Given the description of an element on the screen output the (x, y) to click on. 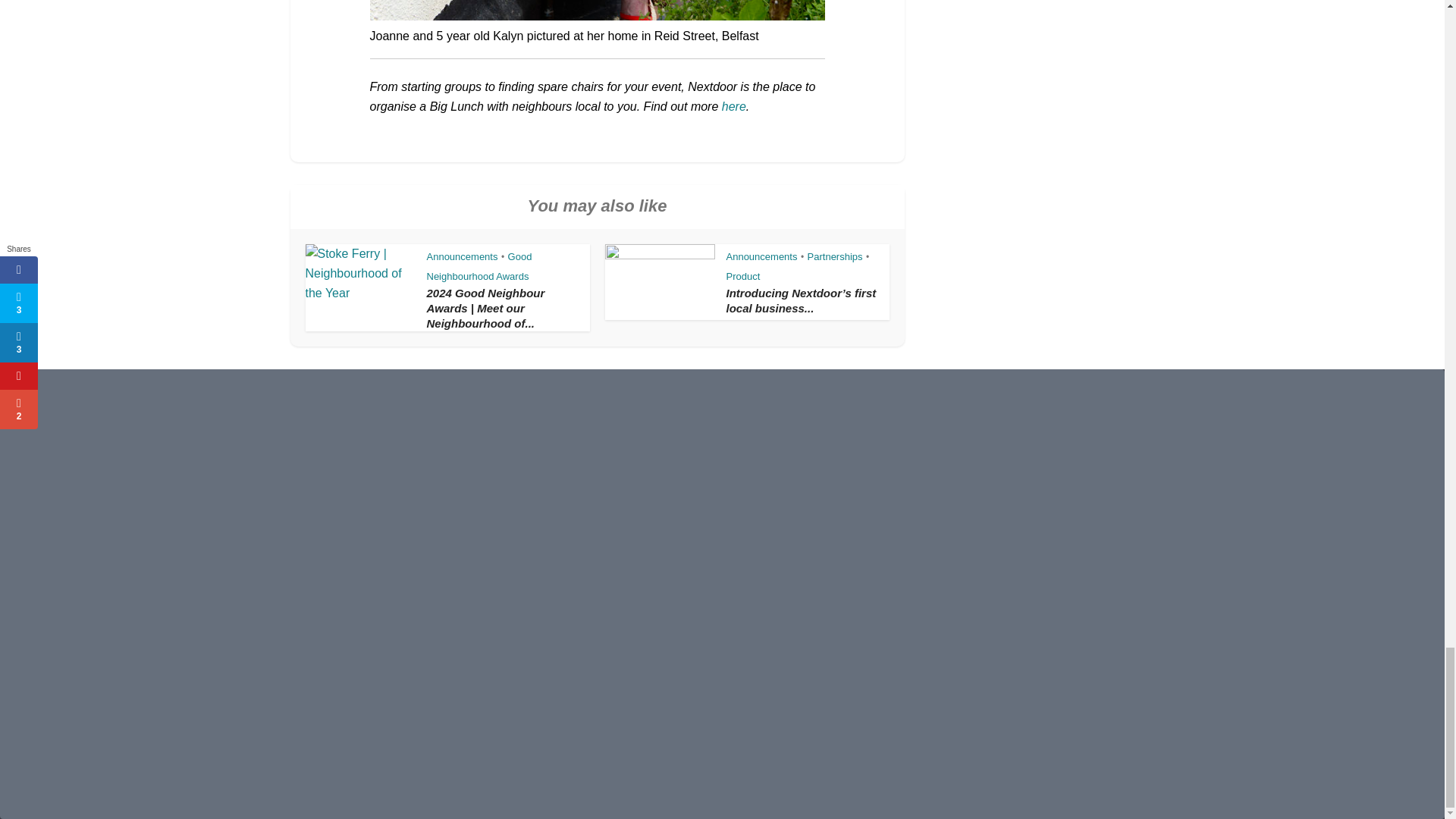
Product (743, 276)
Partnerships (835, 256)
here (733, 106)
Good Neighbourhood Awards (478, 265)
Announcements (761, 256)
Announcements (461, 256)
